Given the description of an element on the screen output the (x, y) to click on. 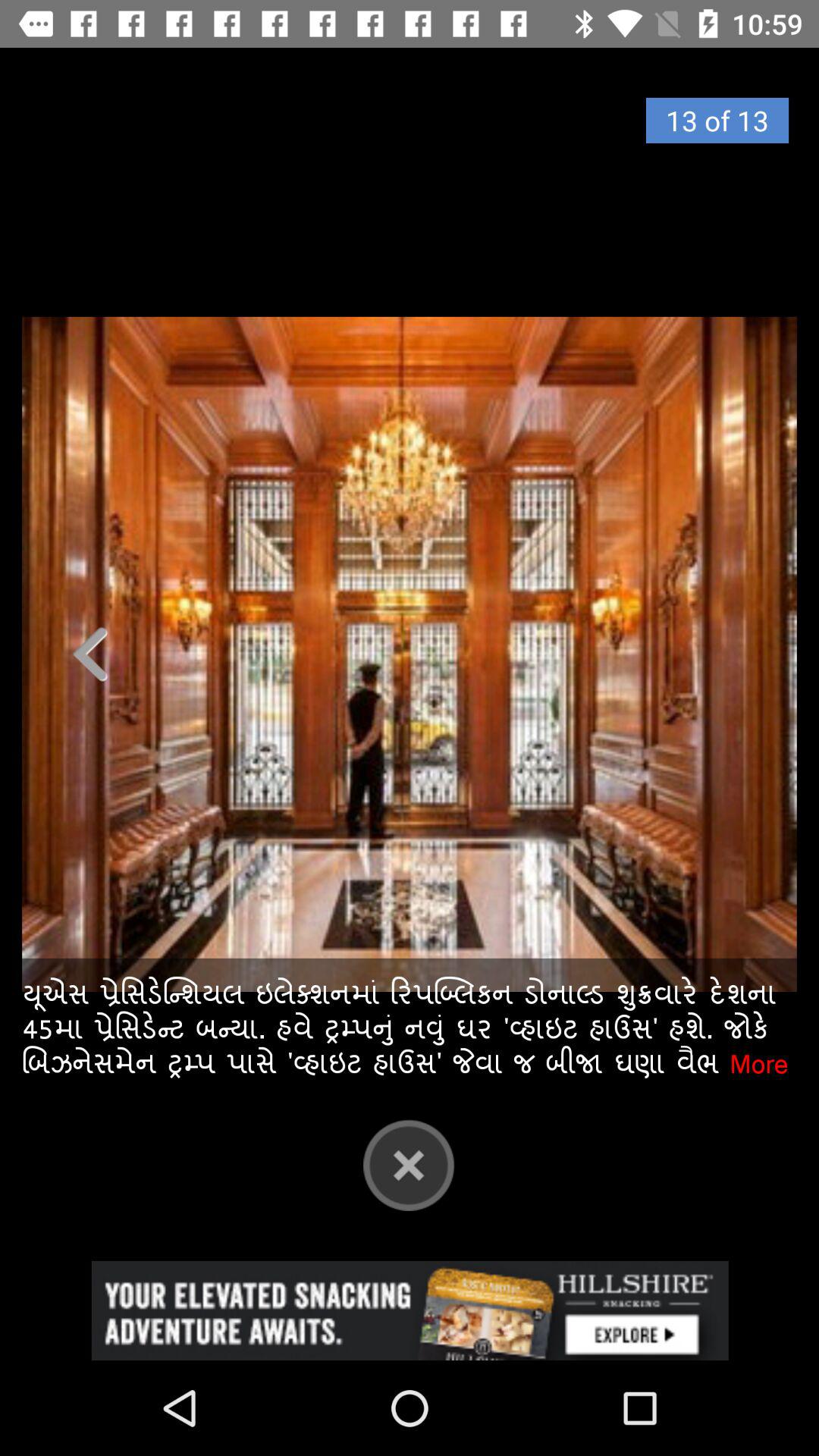
select advertisement (409, 1310)
